Given the description of an element on the screen output the (x, y) to click on. 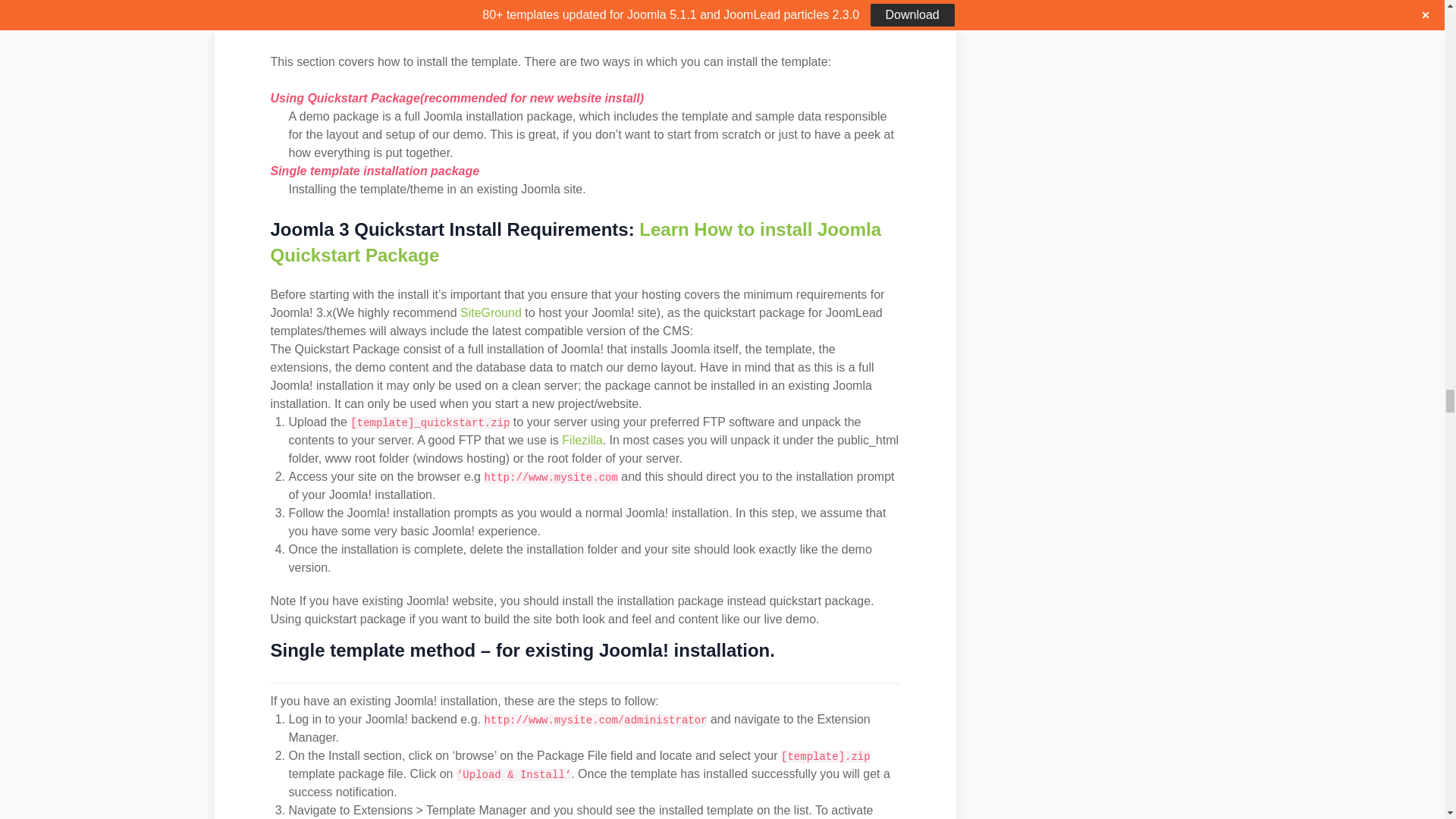
Filezilla (582, 440)
Learn How to install Joomla Quickstart Package (574, 242)
SiteGround (490, 312)
